Given the description of an element on the screen output the (x, y) to click on. 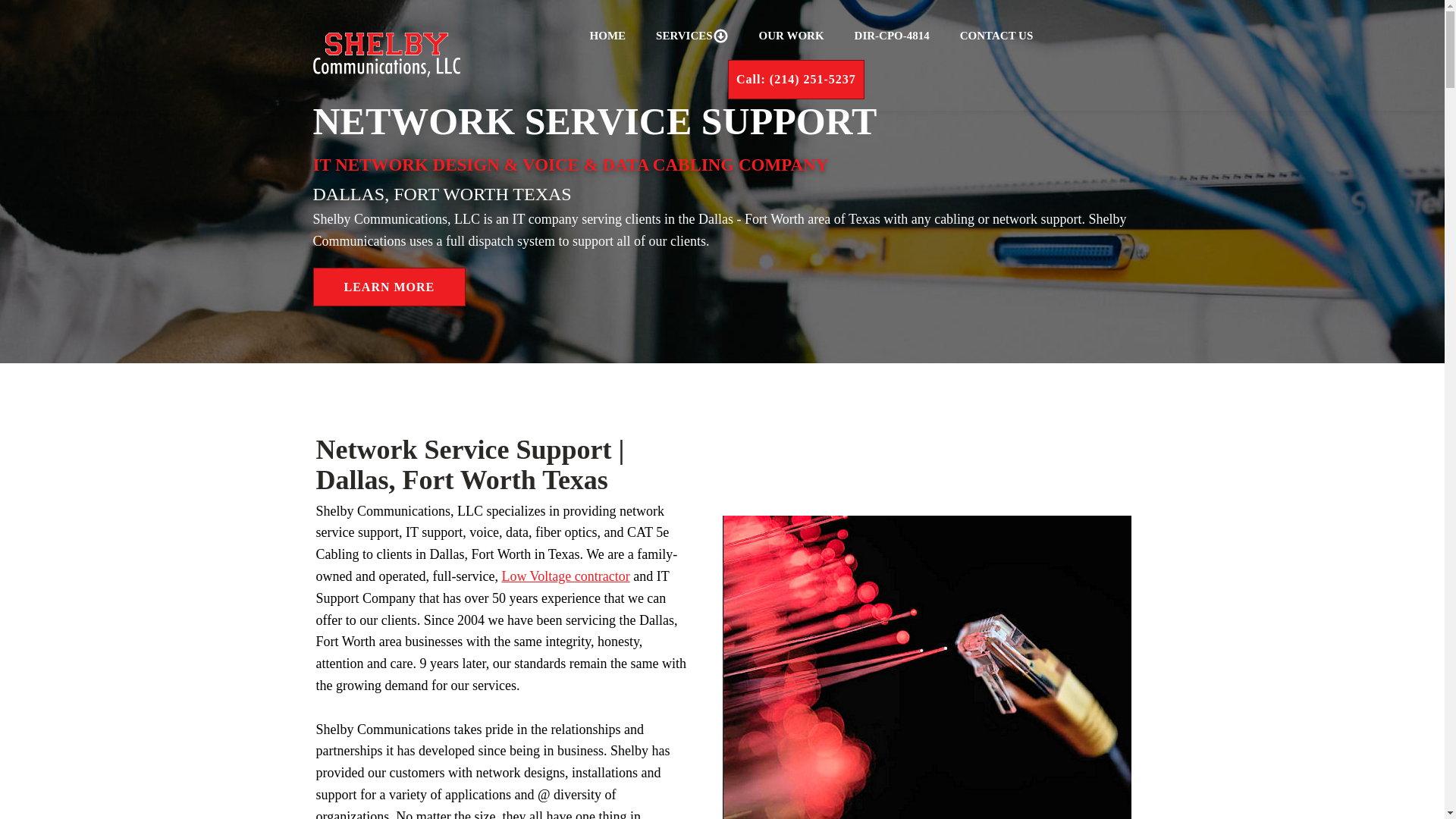
SERVICES (691, 35)
OUR WORK (791, 35)
Low Voltage contractor (564, 575)
CONTACT US (996, 35)
HOME (607, 35)
LEARN MORE (389, 287)
DIR-CPO-4814 (892, 35)
